Given the description of an element on the screen output the (x, y) to click on. 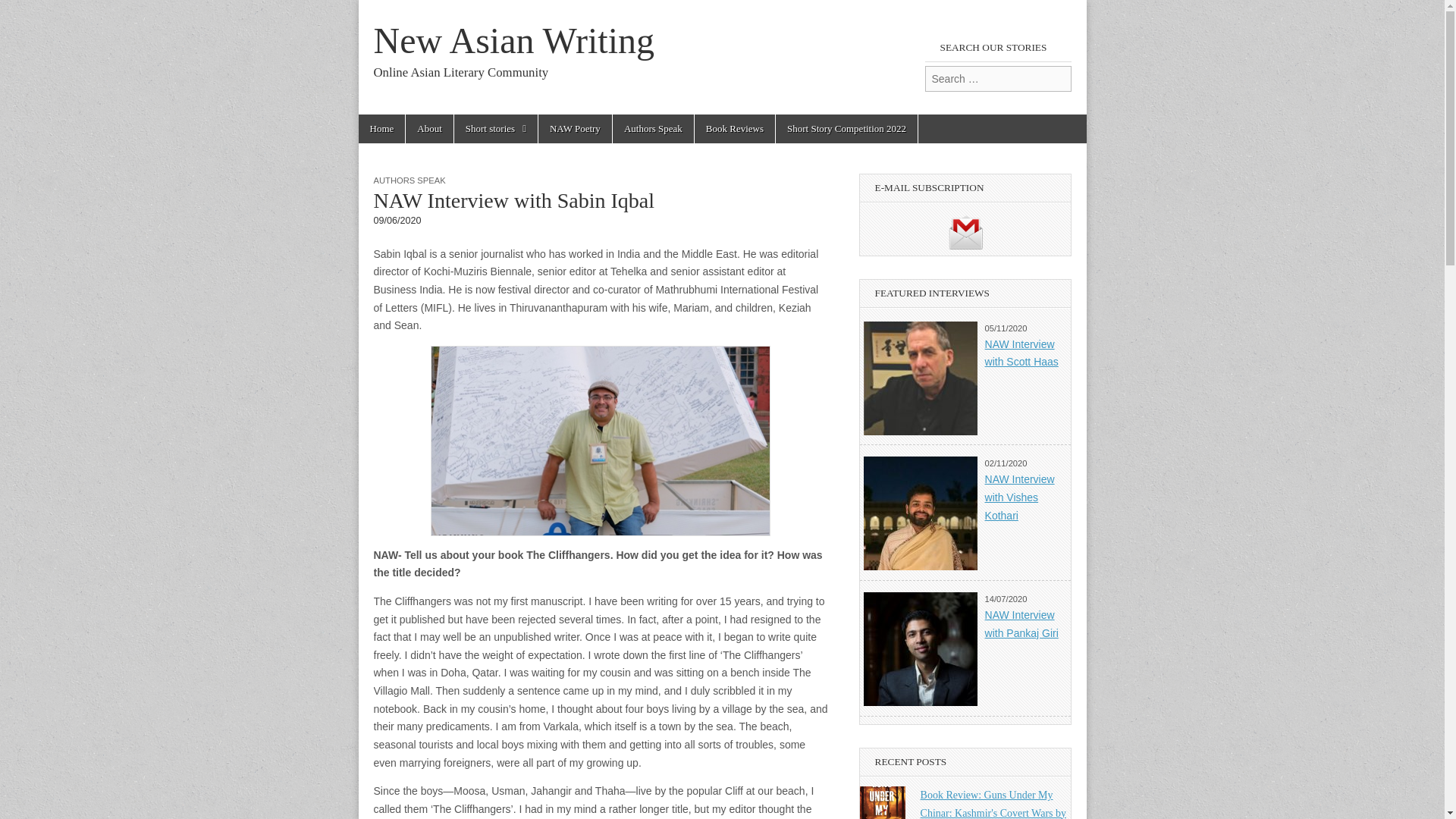
Home (381, 128)
NAW Poetry (574, 128)
Short stories (495, 128)
Short Story Competition 2022 (846, 128)
AUTHORS SPEAK (408, 180)
Search (23, 12)
NAW Interview with Pankaj Giri (1021, 624)
New Asian Writing (512, 40)
New Asian Writing (512, 40)
About (429, 128)
Authors Speak (653, 128)
NAW Interview with Vishes Kothari (1019, 496)
